Given the description of an element on the screen output the (x, y) to click on. 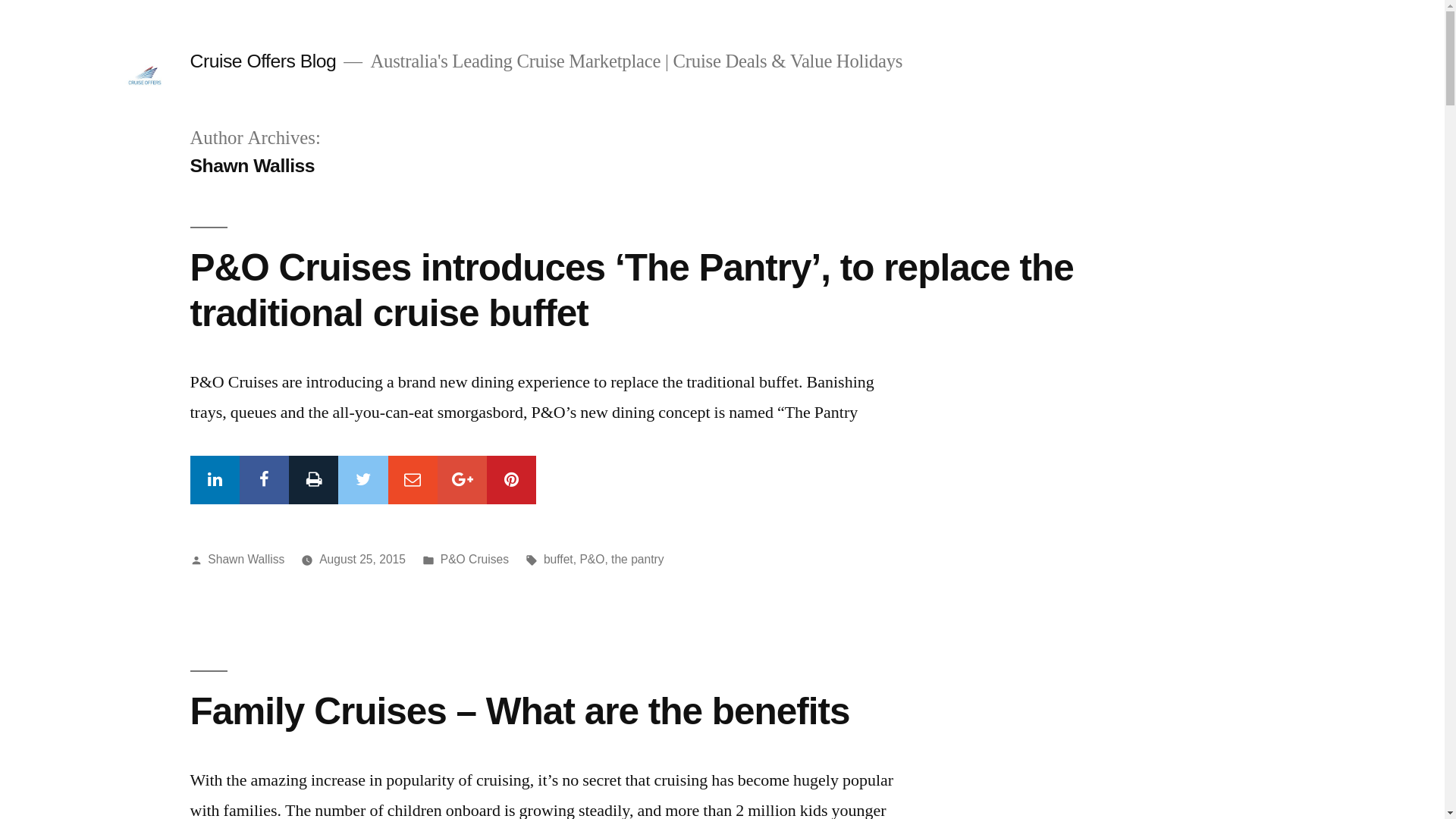
buffet Element type: text (558, 558)
Pinterest Element type: hover (511, 479)
Google+ Element type: hover (461, 479)
Mail Element type: hover (412, 479)
Twitter Element type: hover (362, 479)
Linkedin Element type: hover (213, 479)
Print Element type: hover (313, 479)
P&O Cruises Element type: text (474, 558)
August 25, 2015 Element type: text (362, 558)
the pantry Element type: text (637, 558)
Cruise Offers Blog Element type: text (262, 60)
Facebook Element type: hover (263, 479)
Shawn Walliss Element type: text (245, 558)
P&O Element type: text (591, 558)
